Given the description of an element on the screen output the (x, y) to click on. 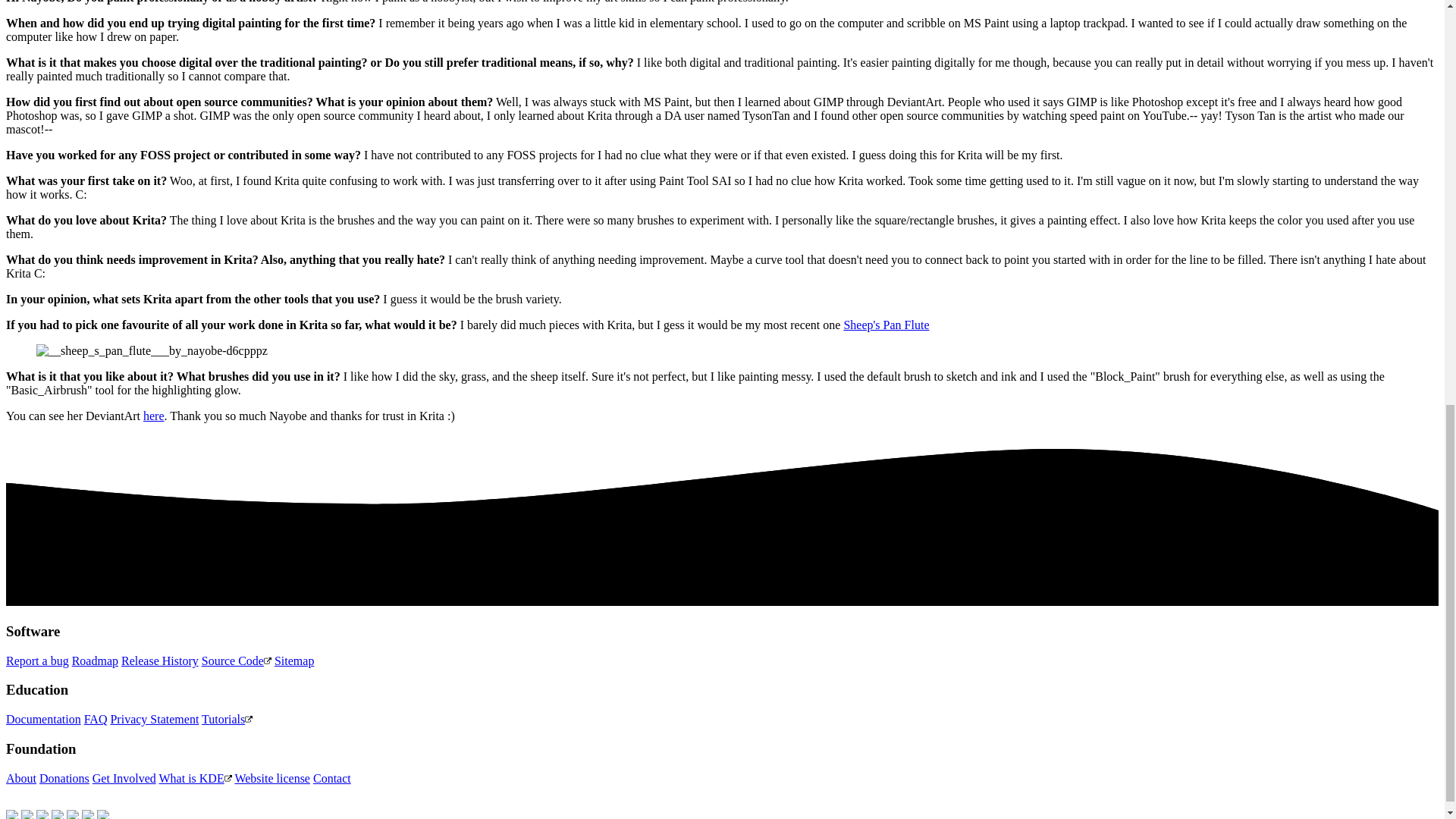
Get Involved (124, 778)
Sheep's Pan Flute (885, 324)
Documentation (43, 718)
Roadmap (94, 660)
here (153, 415)
FAQ (95, 718)
Website license (272, 778)
Privacy Statement (154, 718)
What is KDE (194, 778)
Source Code (236, 660)
Contact (331, 778)
Tutorials (226, 718)
Release History (159, 660)
Report a bug (36, 660)
Donations (63, 778)
